Given the description of an element on the screen output the (x, y) to click on. 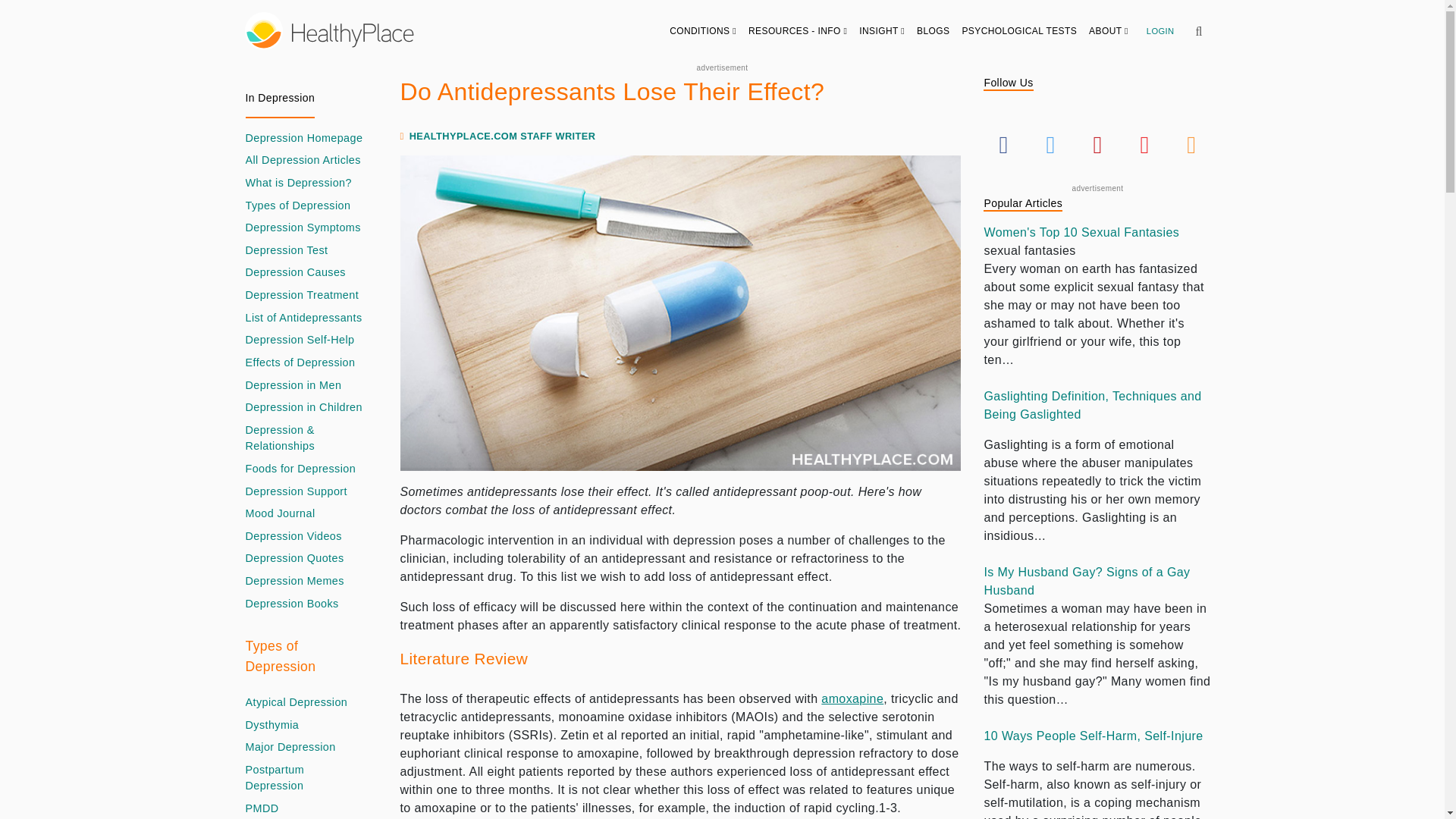
Take a Depression Test (287, 250)
Watch Depression Videos on All Aspects of Depression (294, 536)
Depression in Men: Understanding Male Depression (294, 385)
Helpful Depression Books (292, 604)
CONDITIONS (702, 31)
List of Best Foods for Fighting Depression (301, 469)
INSIGHT (882, 31)
Depression Treatment Options (302, 295)
List of All Depression Information Articles on HealthyPlace (303, 160)
What Is Depression? Depression Definition (299, 183)
